Given the description of an element on the screen output the (x, y) to click on. 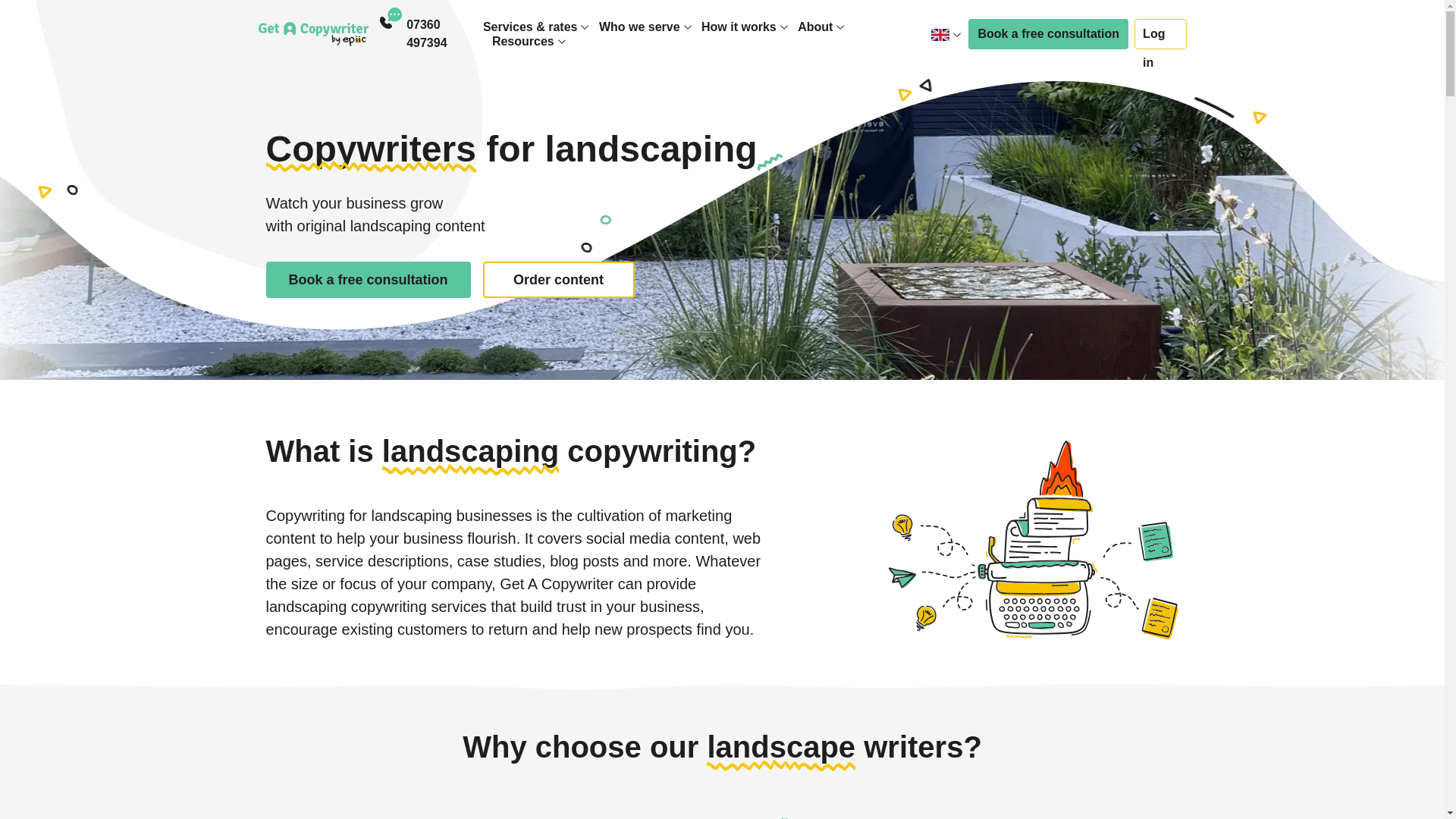
How it works (738, 26)
About (814, 26)
Get a copywriter (312, 33)
Resources (523, 41)
07360 497394 (444, 33)
Who we serve (638, 26)
phone number (444, 33)
